Given the description of an element on the screen output the (x, y) to click on. 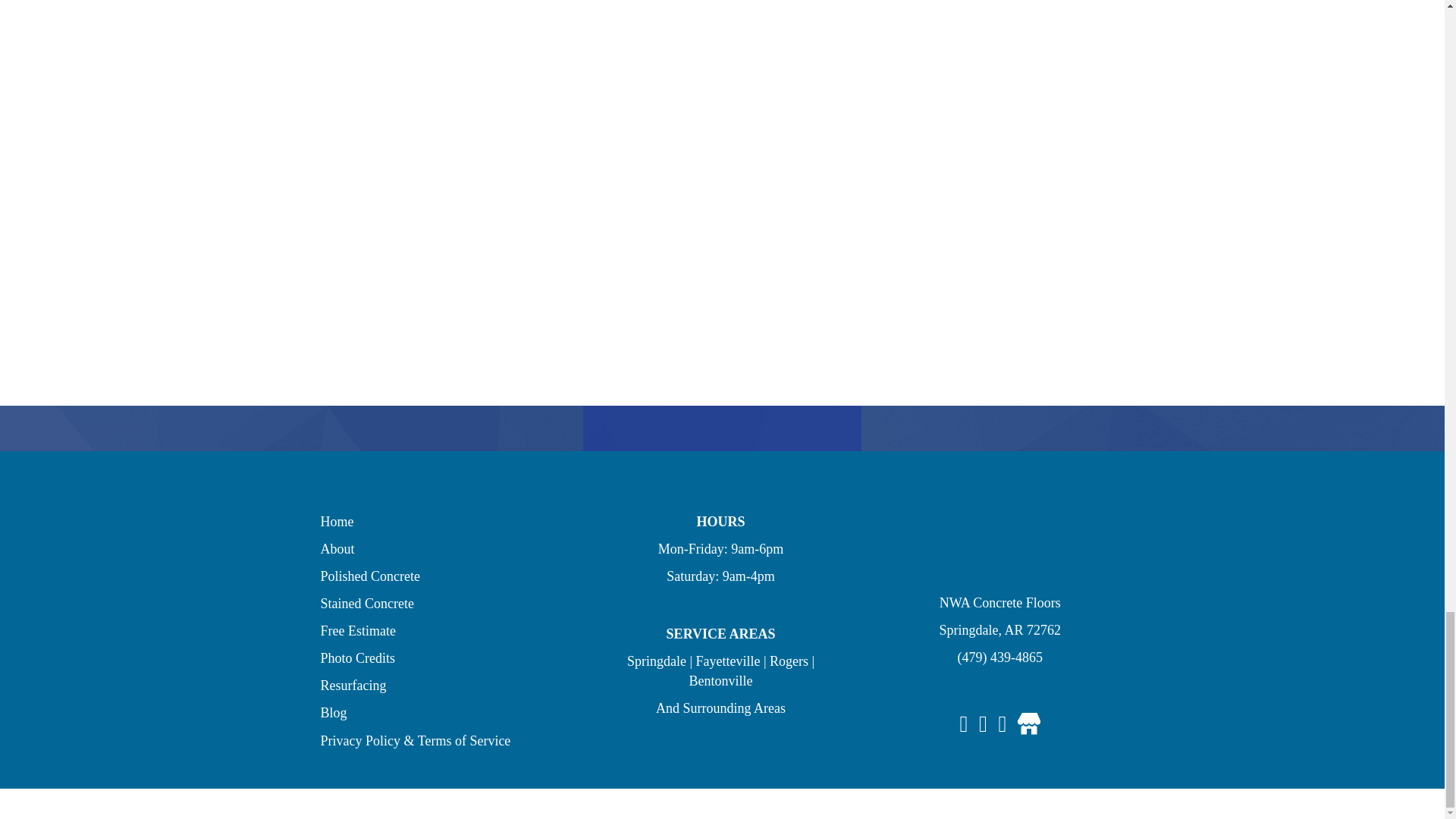
driveway concrete resurfacing (722, 32)
About (336, 548)
Resurfacing (352, 685)
white-logo-nwa-concrete-floors (999, 544)
Blog (333, 712)
Free Estimate (357, 630)
Polished Concrete (369, 575)
Home (336, 521)
Stained Concrete (366, 603)
